Given the description of an element on the screen output the (x, y) to click on. 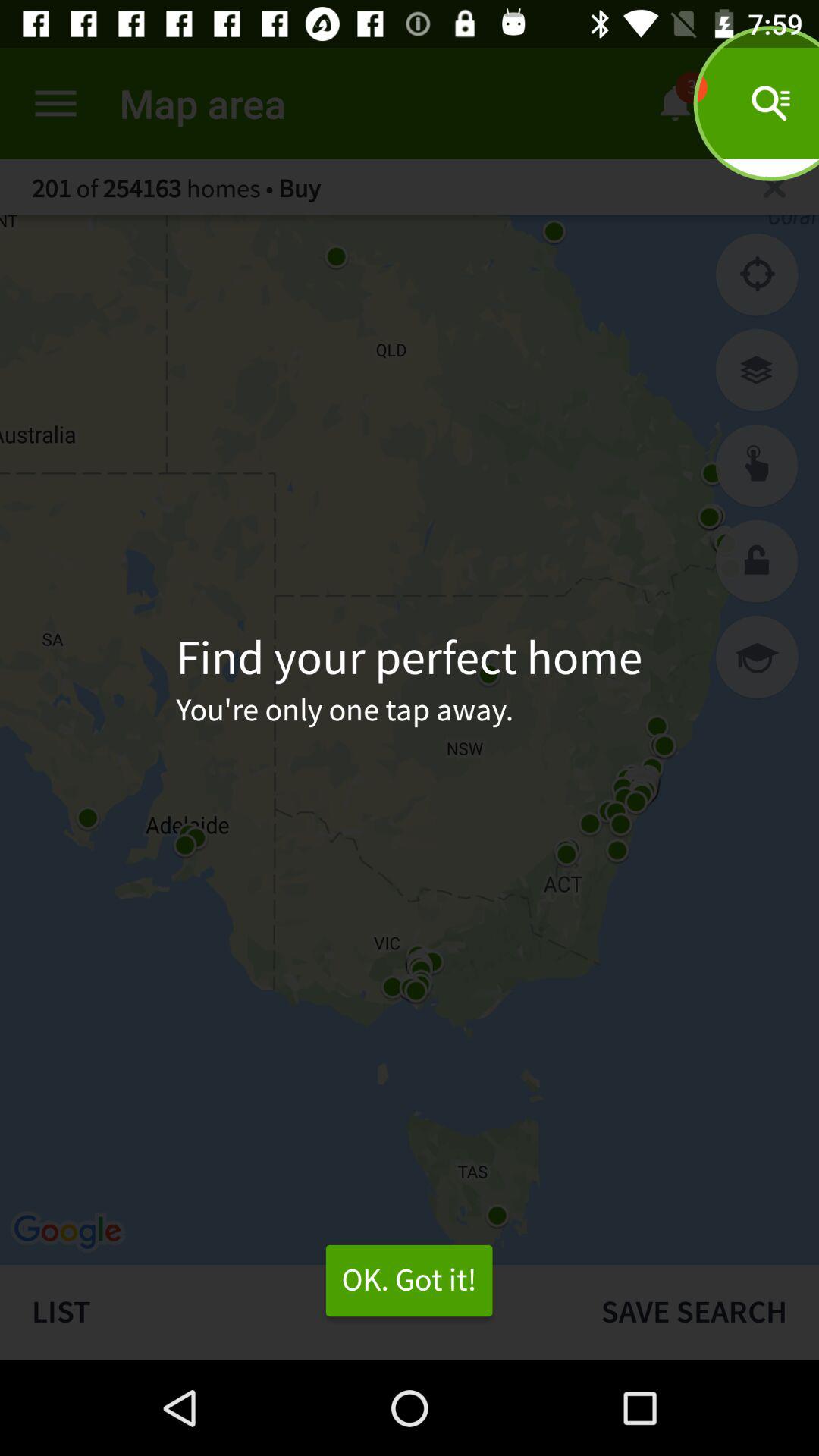
search (756, 465)
